Given the description of an element on the screen output the (x, y) to click on. 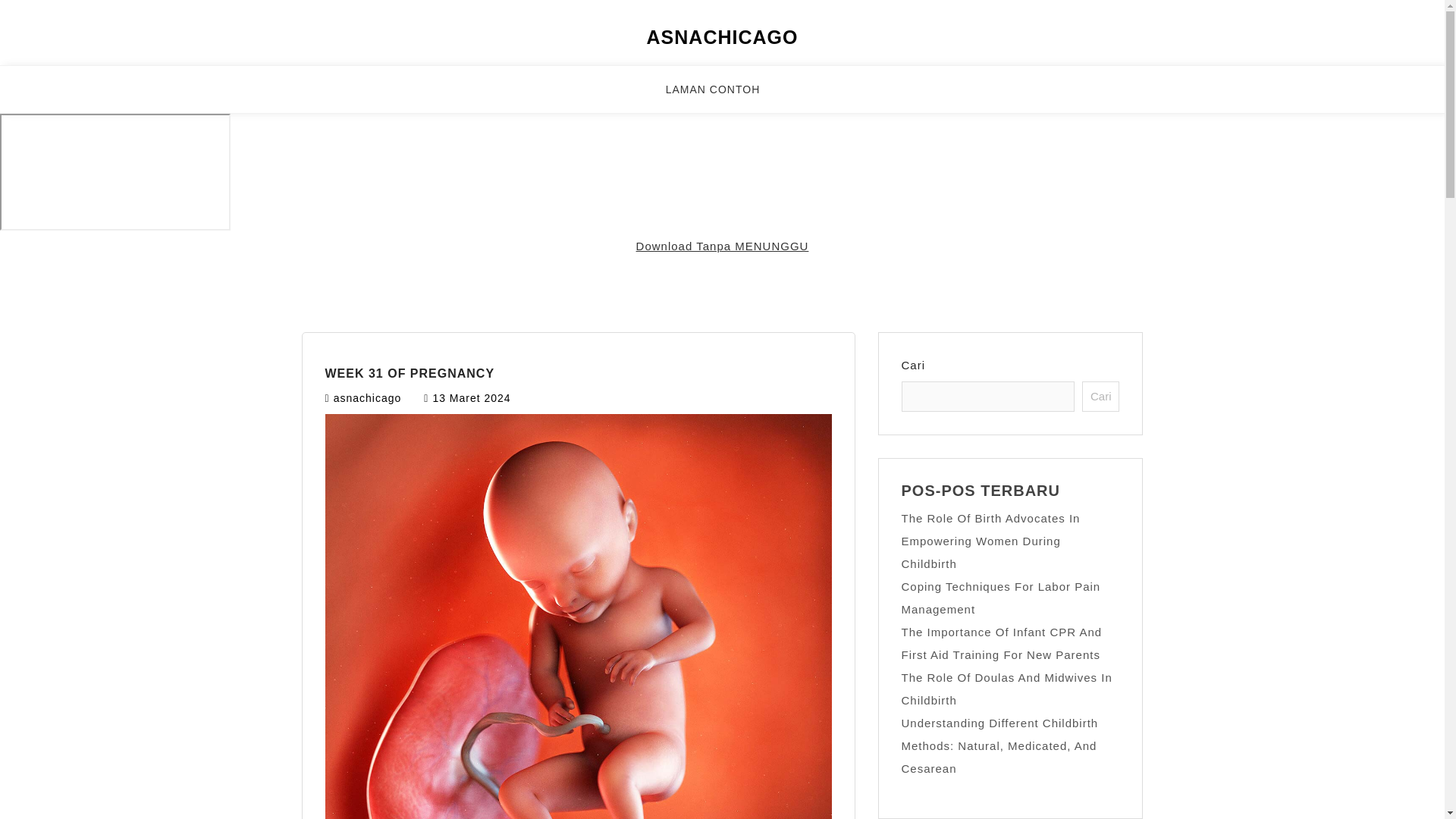
ASNACHICAGO (721, 36)
Coping Techniques For Labor Pain Management (1000, 597)
13 Maret 2024 (471, 398)
Download Tanpa MENUNGGU (722, 245)
The Role Of Doulas And Midwives In Childbirth (1006, 688)
LAMAN CONTOH (721, 96)
asnachicago (367, 398)
Cari (1100, 396)
